Given the description of an element on the screen output the (x, y) to click on. 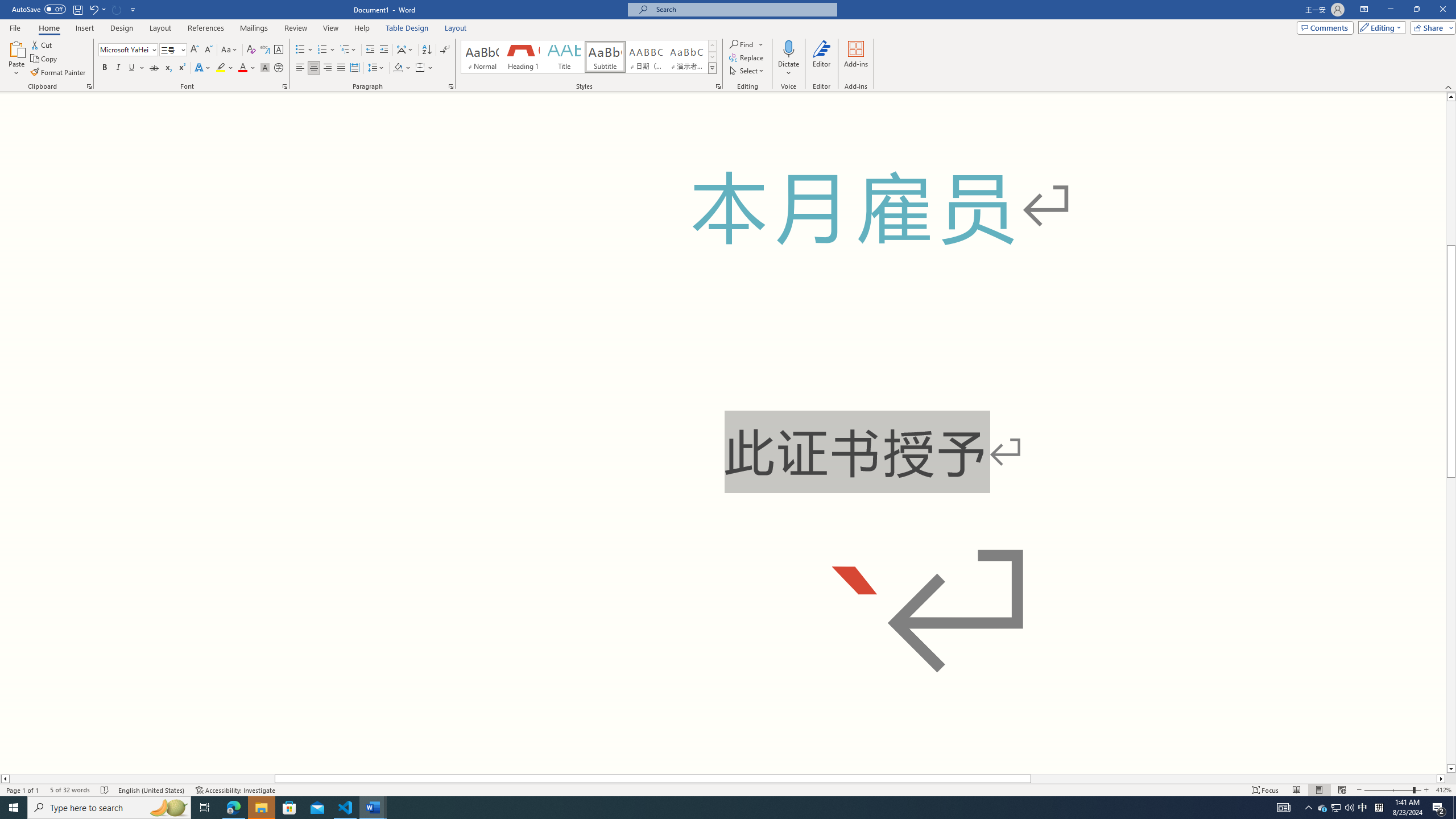
Italic (118, 67)
Office Clipboard... (88, 85)
Subscript (167, 67)
Clear Formatting (250, 49)
Underline (131, 67)
Column left (5, 778)
Page 1 content (722, 432)
Numbering (326, 49)
Font Size (172, 49)
Dictate (788, 58)
Increase Indent (383, 49)
Paragraph... (450, 85)
Microsoft search (742, 9)
Sort... (426, 49)
